Given the description of an element on the screen output the (x, y) to click on. 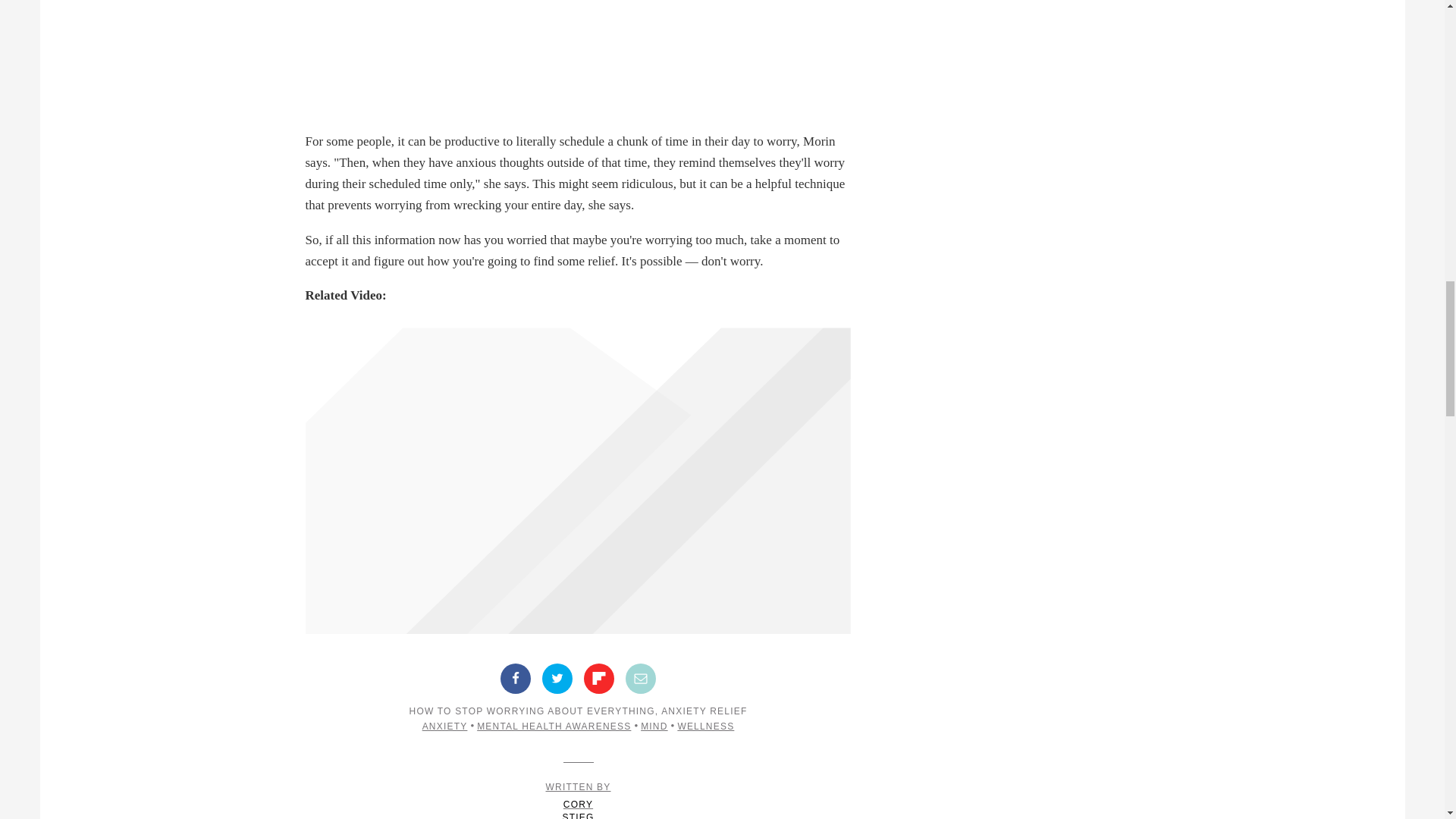
Share on Facebook (577, 800)
Share on Twitter (515, 678)
WELLNESS (556, 678)
MENTAL HEALTH AWARENESS (705, 726)
Share on Flipboard (553, 726)
Share by Email (598, 678)
MIND (641, 678)
ANXIETY (653, 726)
